Given the description of an element on the screen output the (x, y) to click on. 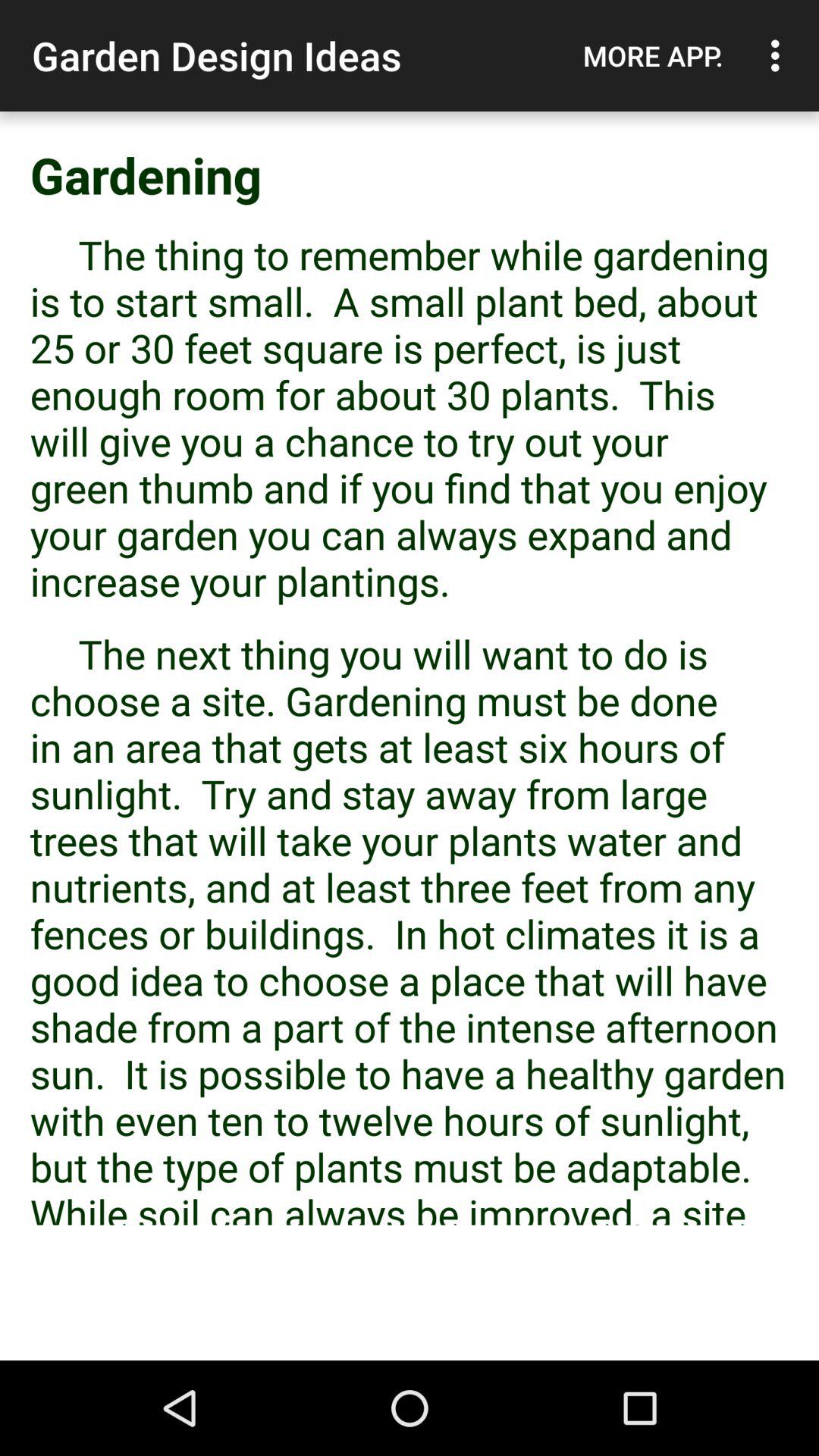
choose app to the right of garden design ideas (653, 55)
